Given the description of an element on the screen output the (x, y) to click on. 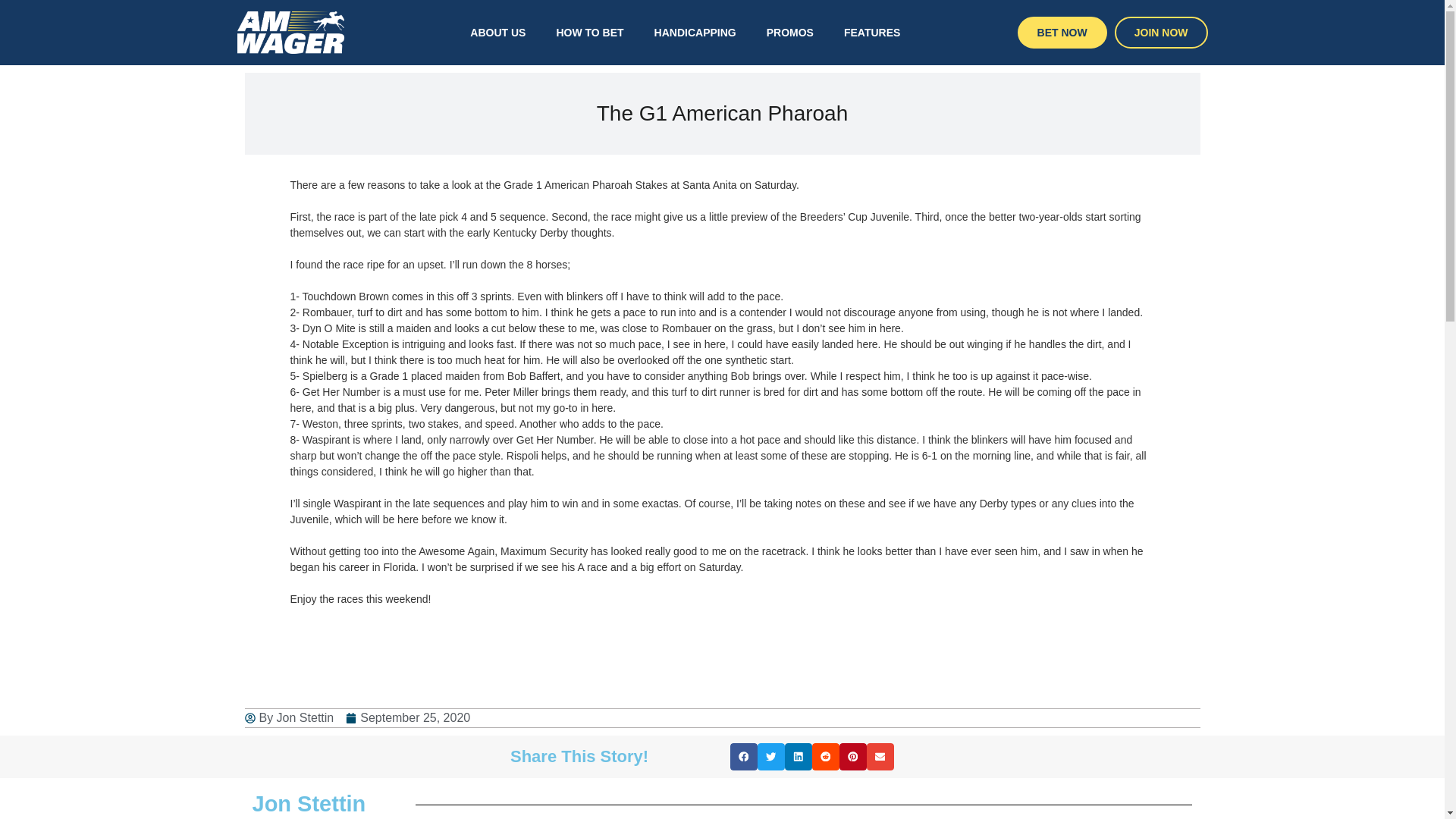
PROMOS (789, 32)
HOW TO BET (589, 32)
HANDICAPPING (695, 32)
BET NOW (1061, 32)
JOIN NOW (1161, 32)
FEATURES (871, 32)
September 25, 2020 (408, 718)
By Jon Stettin (288, 718)
ABOUT US (497, 32)
